Given the description of an element on the screen output the (x, y) to click on. 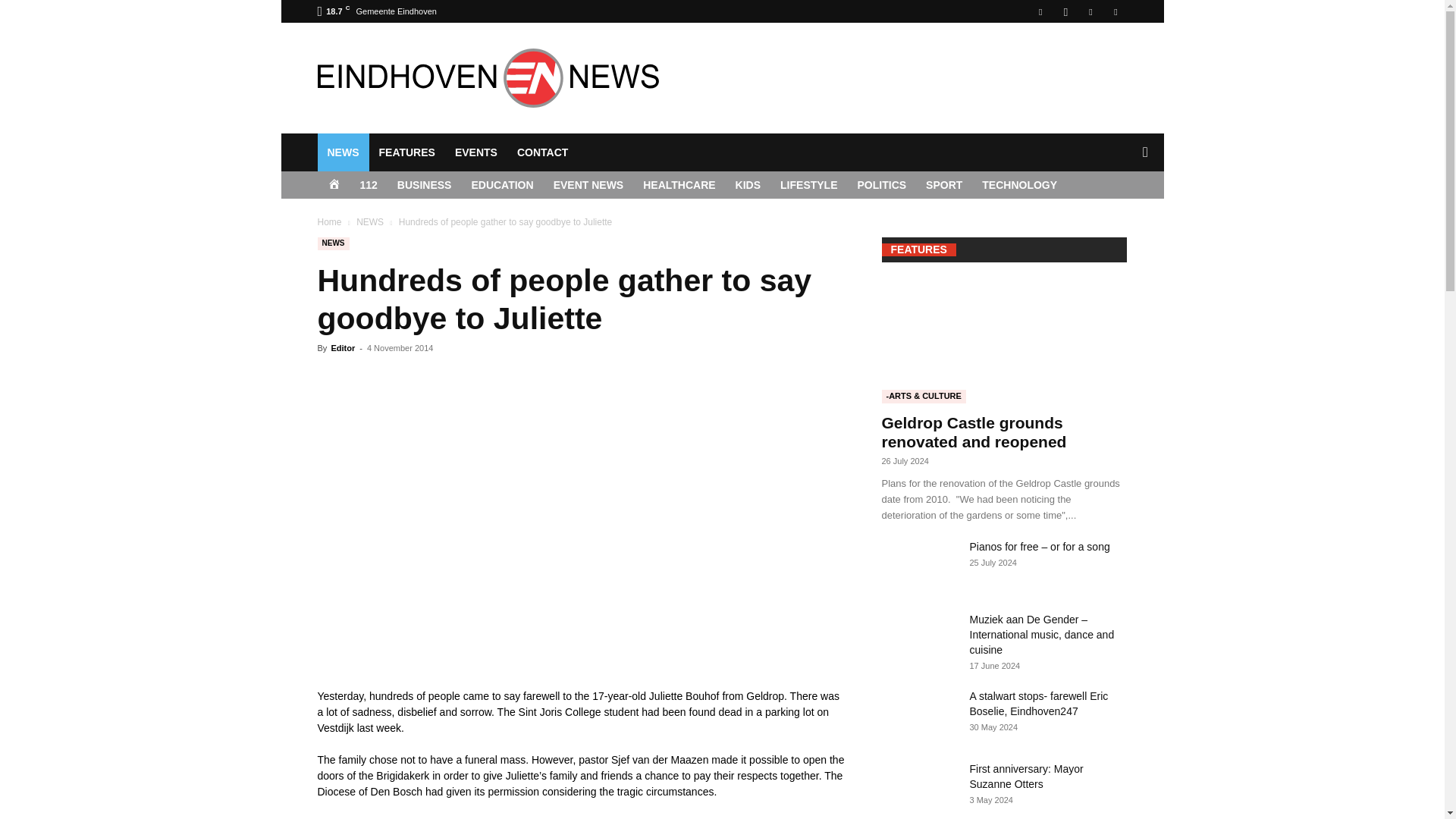
HEALTHCARE (679, 185)
CONTACT (542, 152)
FEATURES (406, 152)
Facebook (1040, 11)
Linkedin (1090, 11)
NEWS (342, 152)
Instagram (1065, 11)
112 (368, 185)
View all posts in NEWS (370, 222)
